Given the description of an element on the screen output the (x, y) to click on. 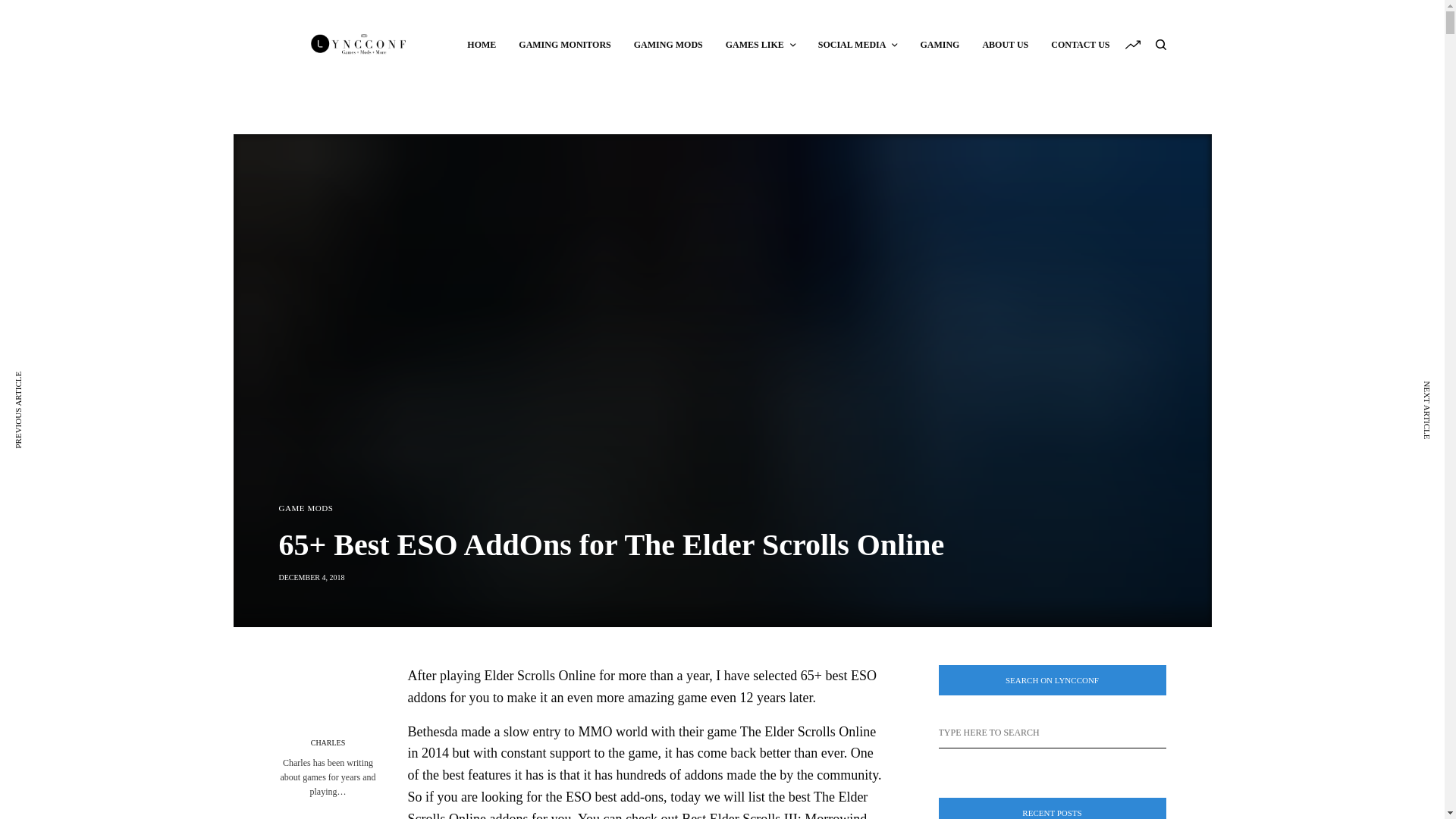
CHARLES (328, 742)
LyncConf (360, 44)
GAME MODS (306, 508)
SOCIAL MEDIA (858, 44)
GAMING MONITORS (564, 44)
Best Elder Scrolls III: Morrowind Mods (637, 815)
